Given the description of an element on the screen output the (x, y) to click on. 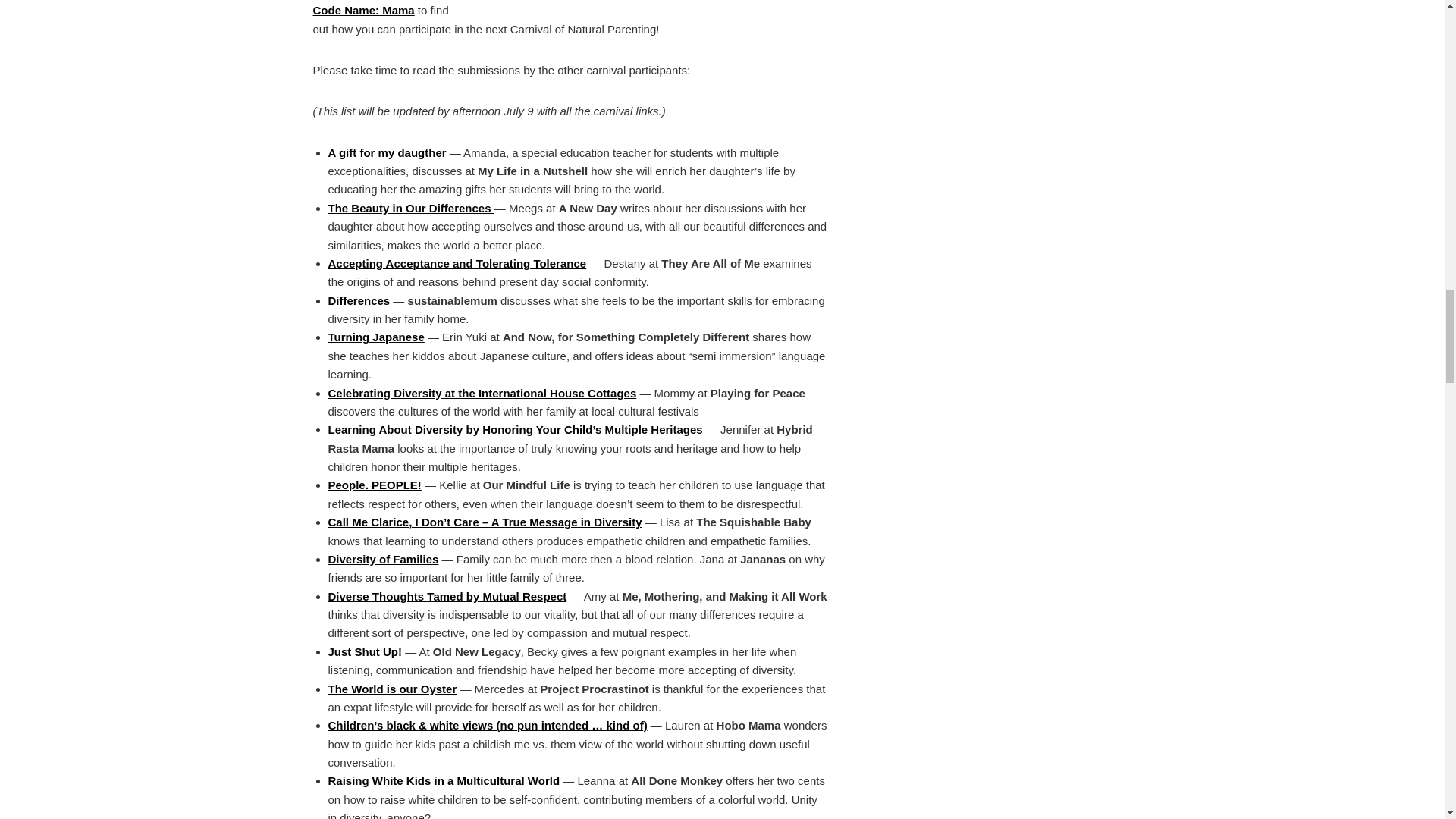
Differences (358, 300)
A gift for my daugther (386, 152)
People. PEOPLE! (373, 484)
The Beauty in Our Differences (410, 207)
Diverse Thoughts Tamed by Mutual Respect (446, 595)
Accepting Acceptance and Tolerating Tolerance (456, 263)
Turning Japanese (375, 336)
Diversity of Families (382, 558)
Code Name: Mama (363, 10)
The World is our Oyster (392, 688)
